Given the description of an element on the screen output the (x, y) to click on. 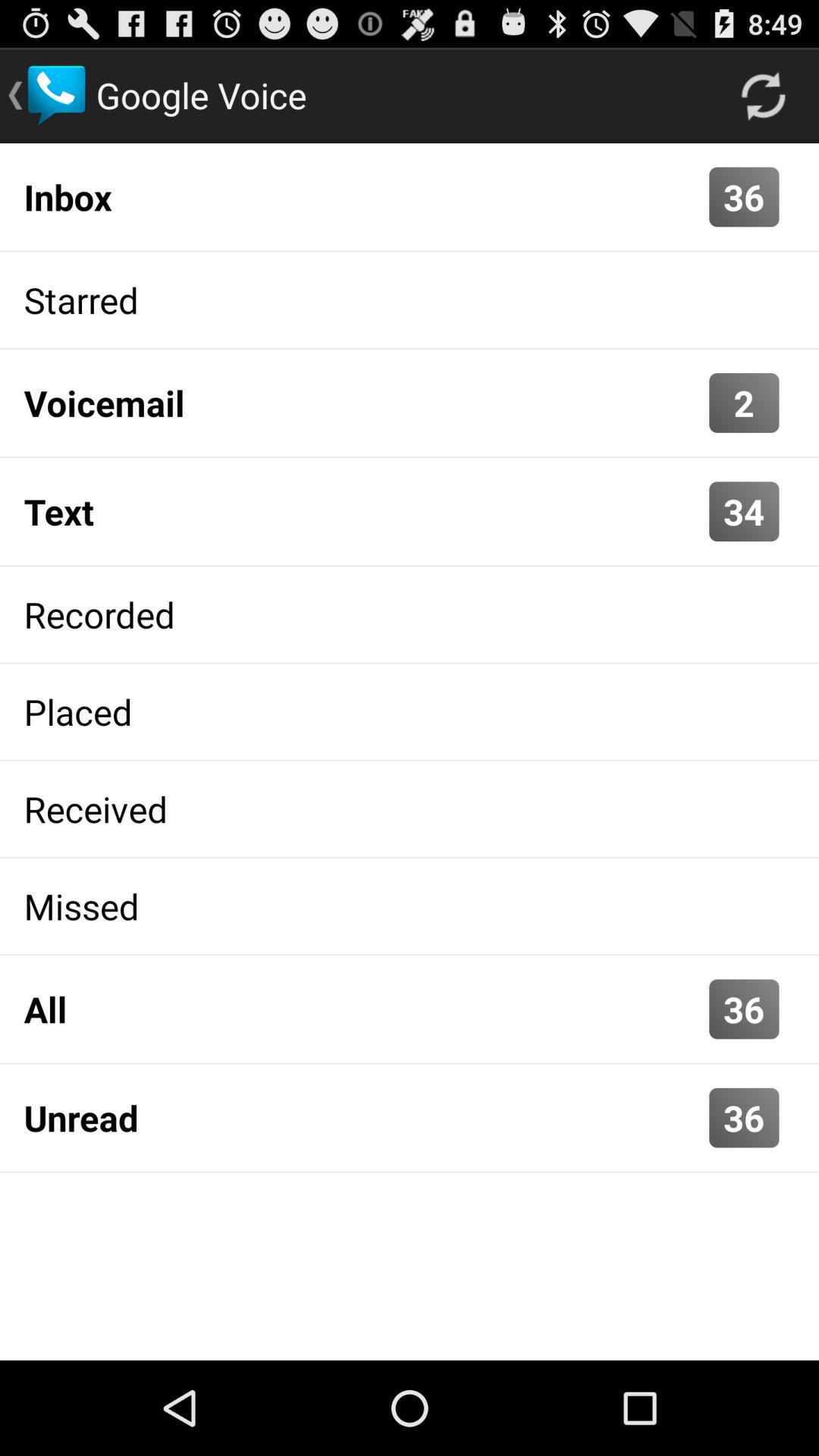
choose item next to the 36 icon (362, 1009)
